Given the description of an element on the screen output the (x, y) to click on. 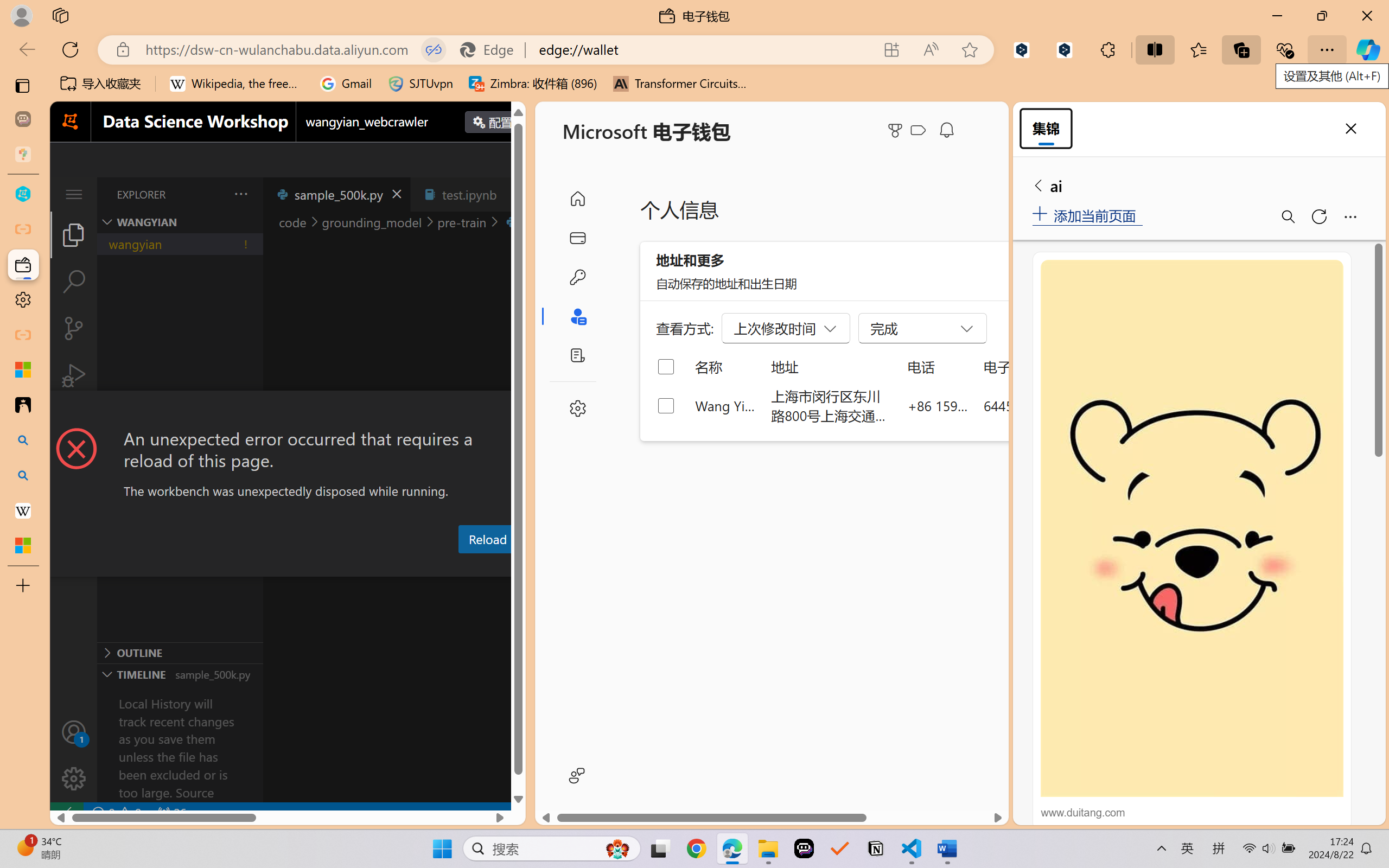
Wang Yian (725, 405)
Output (Ctrl+Shift+U) (377, 565)
Manage (73, 778)
Class: menubar compact overflow-menu-only (73, 194)
Close Dialog (520, 410)
